Given the description of an element on the screen output the (x, y) to click on. 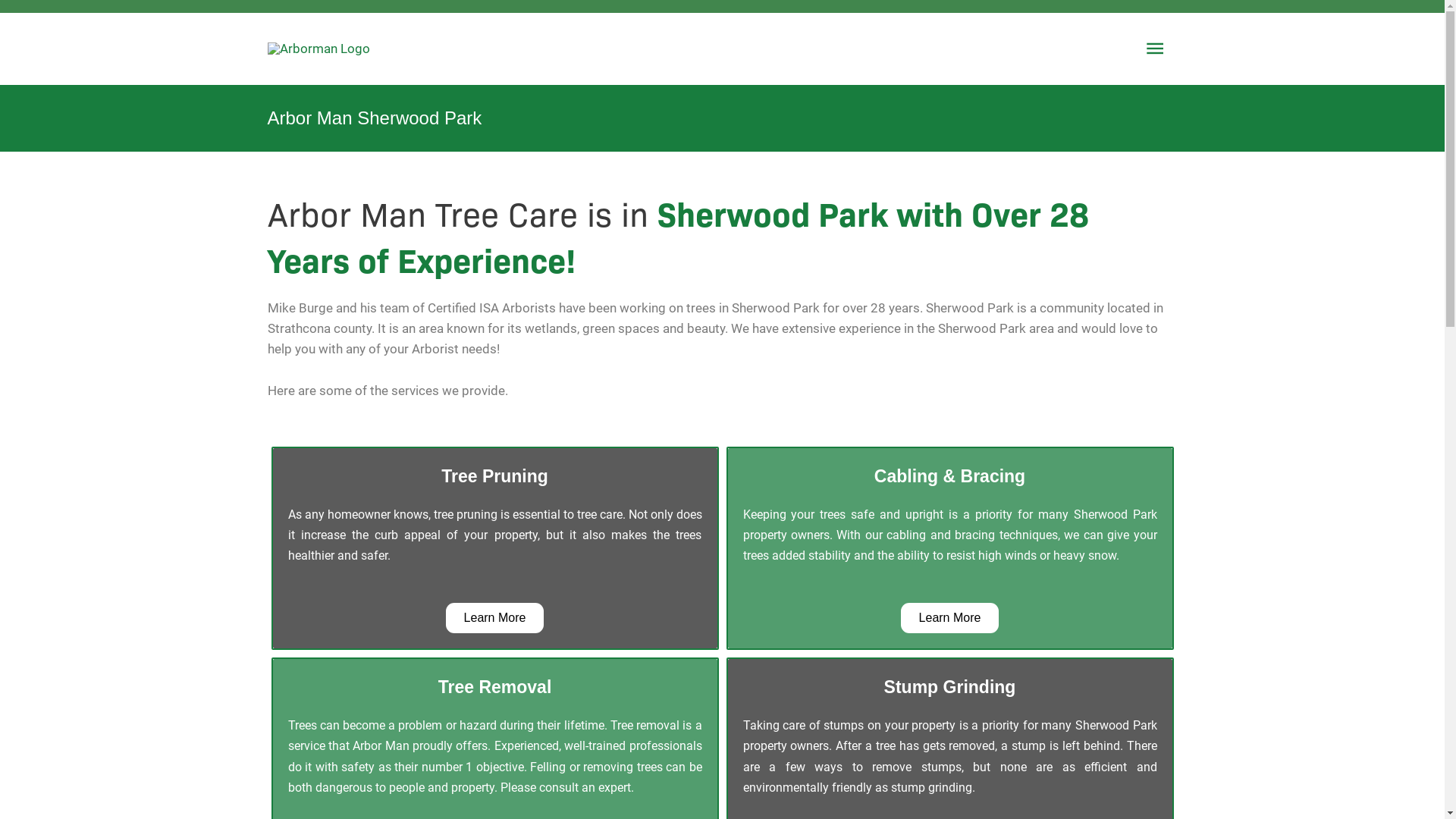
Learn More Element type: text (949, 617)
Learn More Element type: text (494, 617)
Main Menu Element type: text (1155, 48)
